Given the description of an element on the screen output the (x, y) to click on. 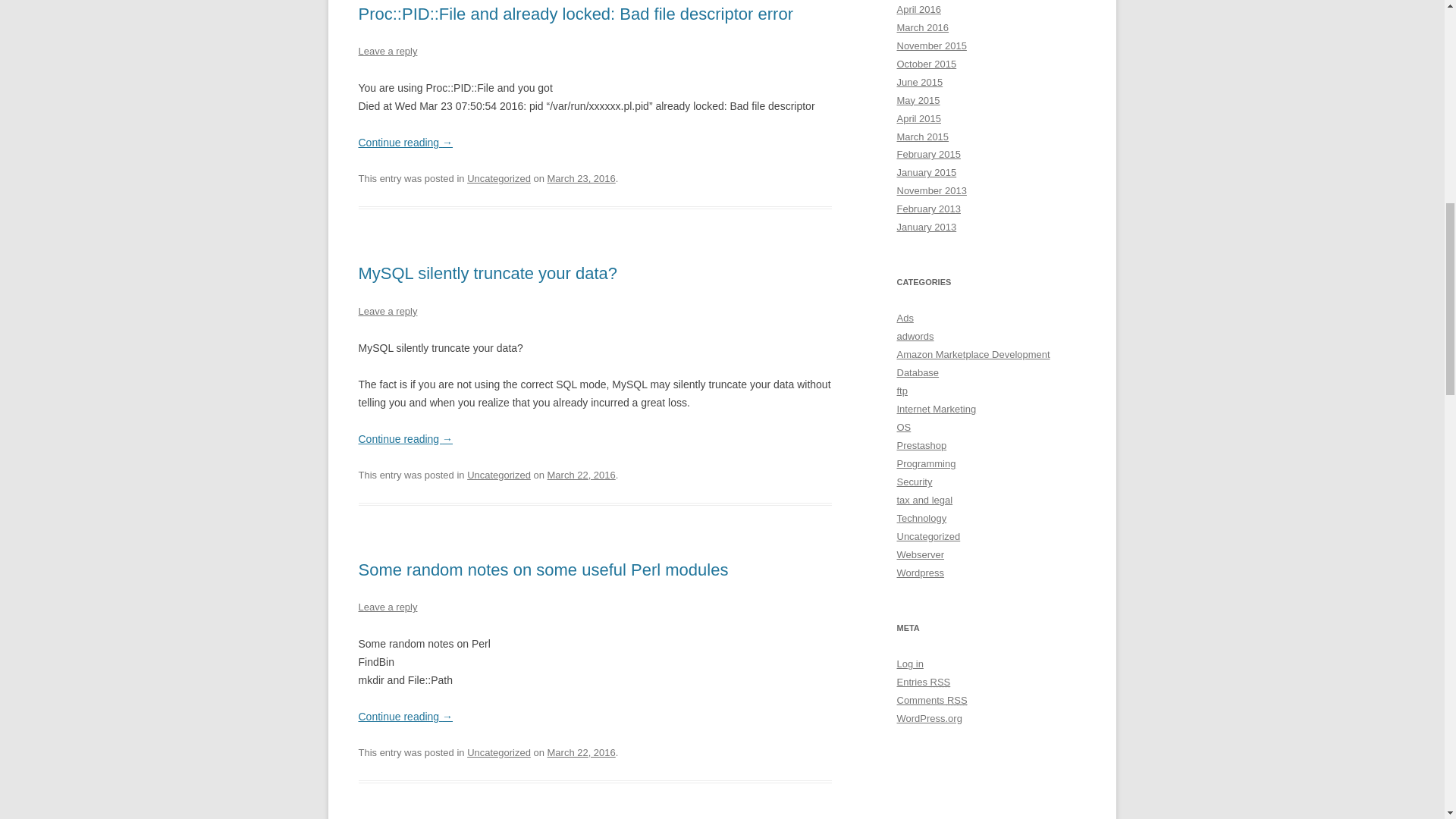
Leave a reply (387, 310)
Uncategorized (499, 474)
March 22, 2016 (581, 752)
6:46 am (581, 752)
7:04 am (581, 178)
March 23, 2016 (581, 178)
Some random notes on some useful Perl modules (543, 569)
Uncategorized (499, 178)
Leave a reply (387, 606)
